Given the description of an element on the screen output the (x, y) to click on. 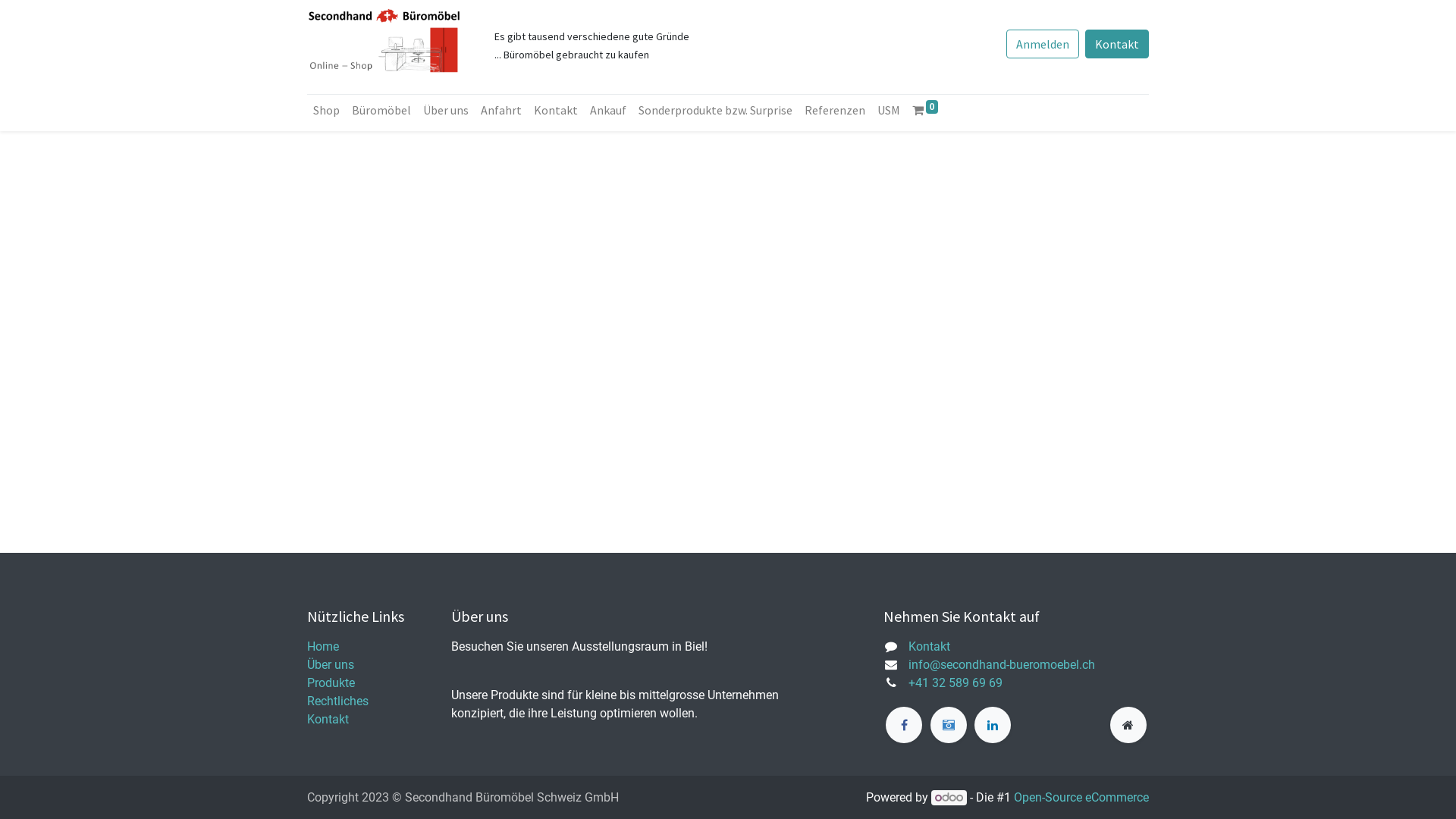
Referenzen Element type: text (834, 109)
USM Element type: text (888, 109)
Open-Source eCommerce Element type: text (1080, 797)
+41 32 589 69 69 Element type: text (955, 682)
Produkte Element type: text (330, 682)
Home Element type: text (322, 646)
Kontakt Element type: text (1116, 43)
Sonderprodukte bzw. Surprise Element type: text (715, 109)
Kontakt Element type: text (327, 719)
Anmelden Element type: text (1042, 43)
0 Element type: text (925, 109)
info@secondhand-bueromoebel.ch Element type: text (1001, 664)
Kontakt Element type: text (555, 109)
Ankauf Element type: text (607, 109)
Shop Element type: text (326, 109)
Anfahrt Element type: text (500, 109)
Kontakt Element type: text (929, 646)
Rechtliches Element type: text (337, 700)
